Given the description of an element on the screen output the (x, y) to click on. 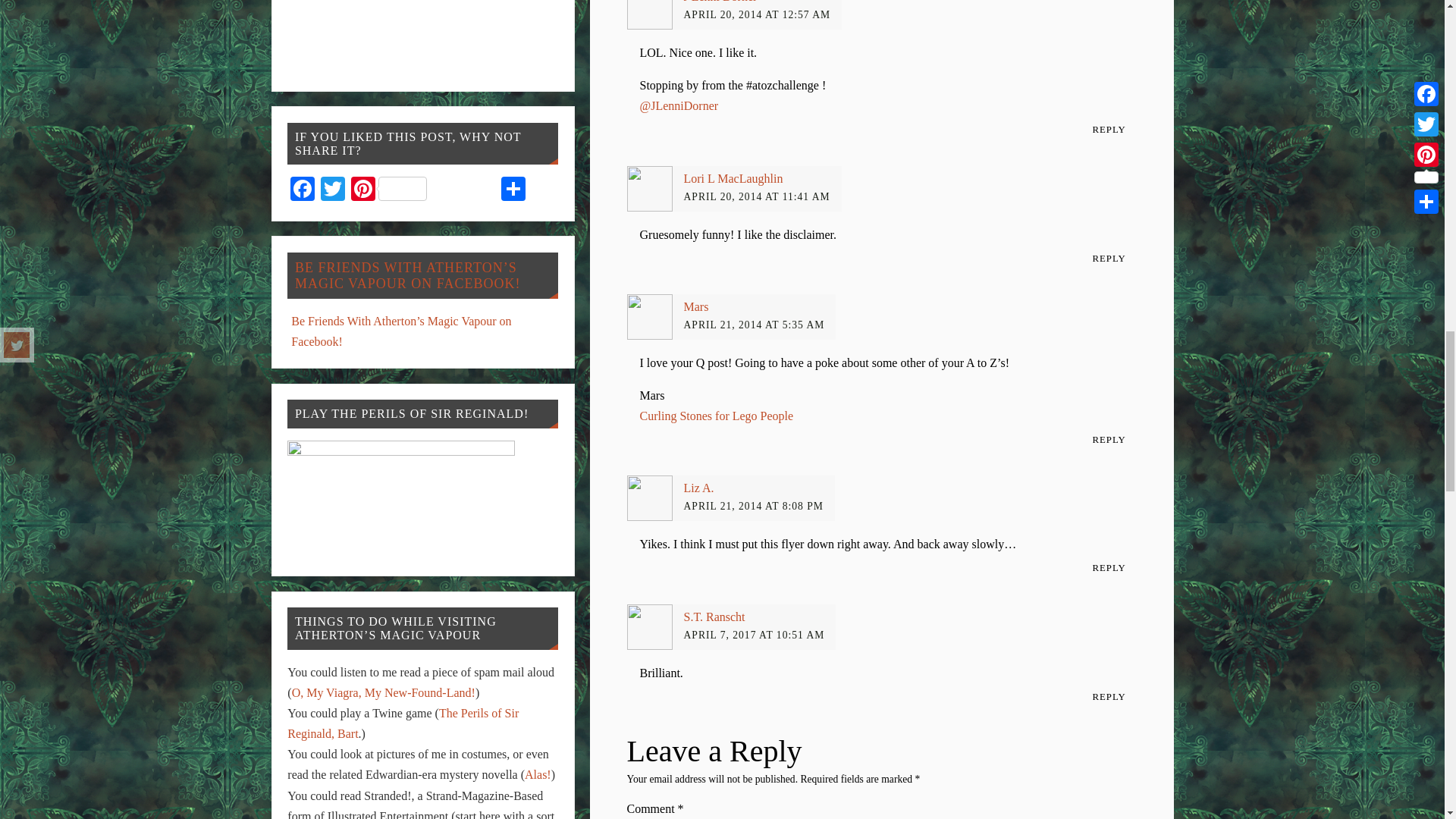
Lori L MacLaughlin (733, 178)
O My Viagra, My New-Found-Land! (384, 692)
APRIL 20, 2014 AT 11:41 AM (756, 196)
APRIL 20, 2014 AT 12:57 AM (757, 14)
Pinterest (388, 190)
REPLY (1109, 259)
J Lenni Dorner (720, 1)
The Perils of Sir Reginald, Bart: A Twine Game (402, 723)
Alas!: A Complete Mystery Novelette in 26 Installments (537, 774)
Facebook (301, 190)
